Given the description of an element on the screen output the (x, y) to click on. 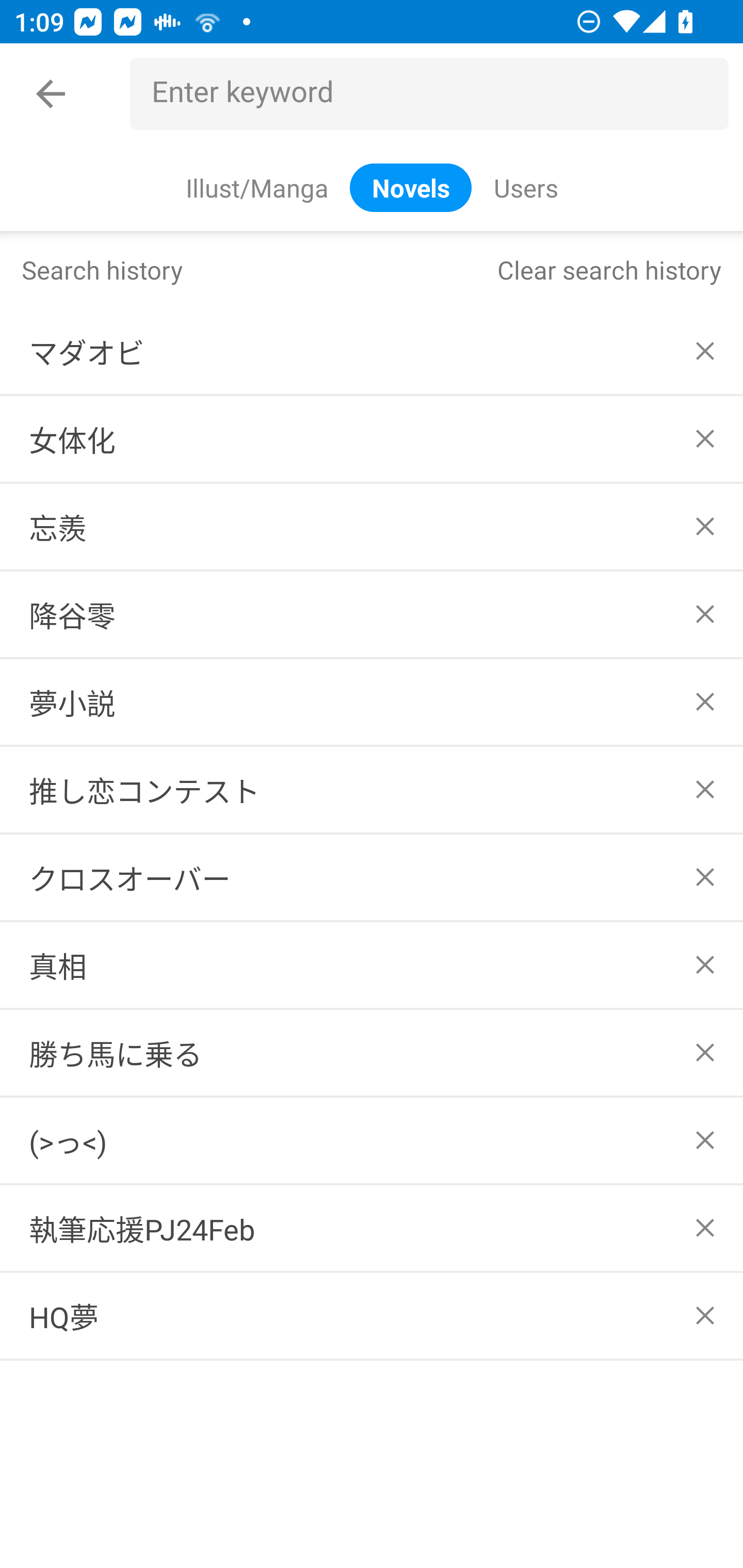
Navigate up (50, 93)
Enter keyword (436, 94)
Illust/Manga (256, 187)
Novels (410, 187)
Users (525, 187)
Clear search history (609, 269)
マダオビ (371, 350)
女体化 (371, 438)
忘羨 (371, 526)
降谷零 (371, 613)
夢小説 (371, 701)
推し恋コンテスト (371, 789)
クロスオーバー (371, 877)
真相 (371, 964)
勝ち馬に乗る (371, 1052)
(>っ<) (371, 1140)
執筆応援PJ24Feb (371, 1228)
HQ夢 (371, 1315)
